Given the description of an element on the screen output the (x, y) to click on. 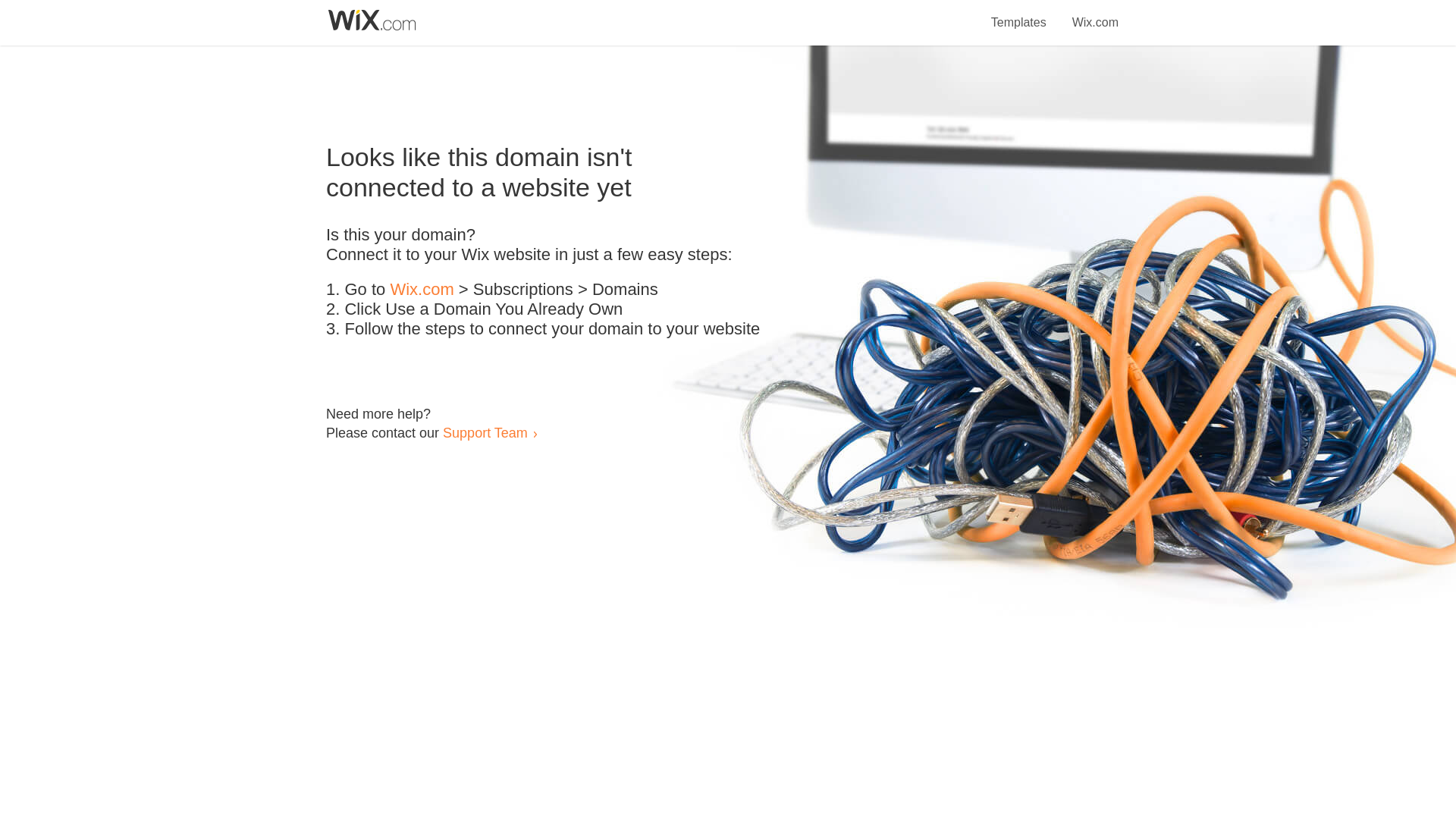
Support Team (484, 432)
Wix.com (1095, 14)
Wix.com (421, 289)
Templates (1018, 14)
